Given the description of an element on the screen output the (x, y) to click on. 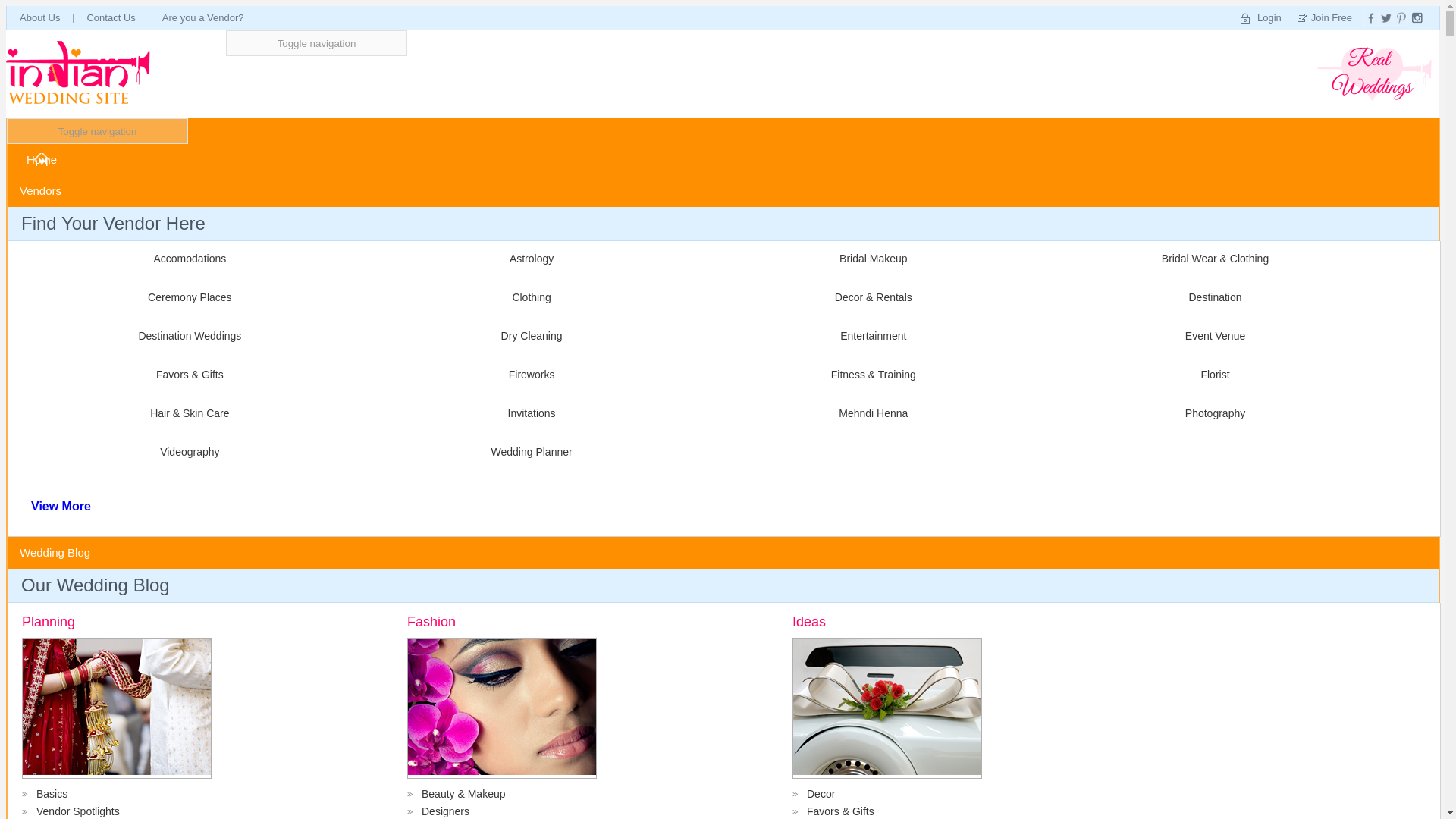
Event Venue (1212, 336)
Destination Weddings (187, 336)
Home (41, 159)
Vendors (42, 190)
Are you a Vendor? (203, 17)
Photography (1212, 413)
Florist (1212, 374)
About Us (39, 17)
Accomodations (187, 258)
Astrology (529, 258)
Invitations (529, 413)
Clothing (529, 297)
Mehndi Henna (869, 413)
Dry Cleaning (529, 336)
Join Free (1320, 17)
